Given the description of an element on the screen output the (x, y) to click on. 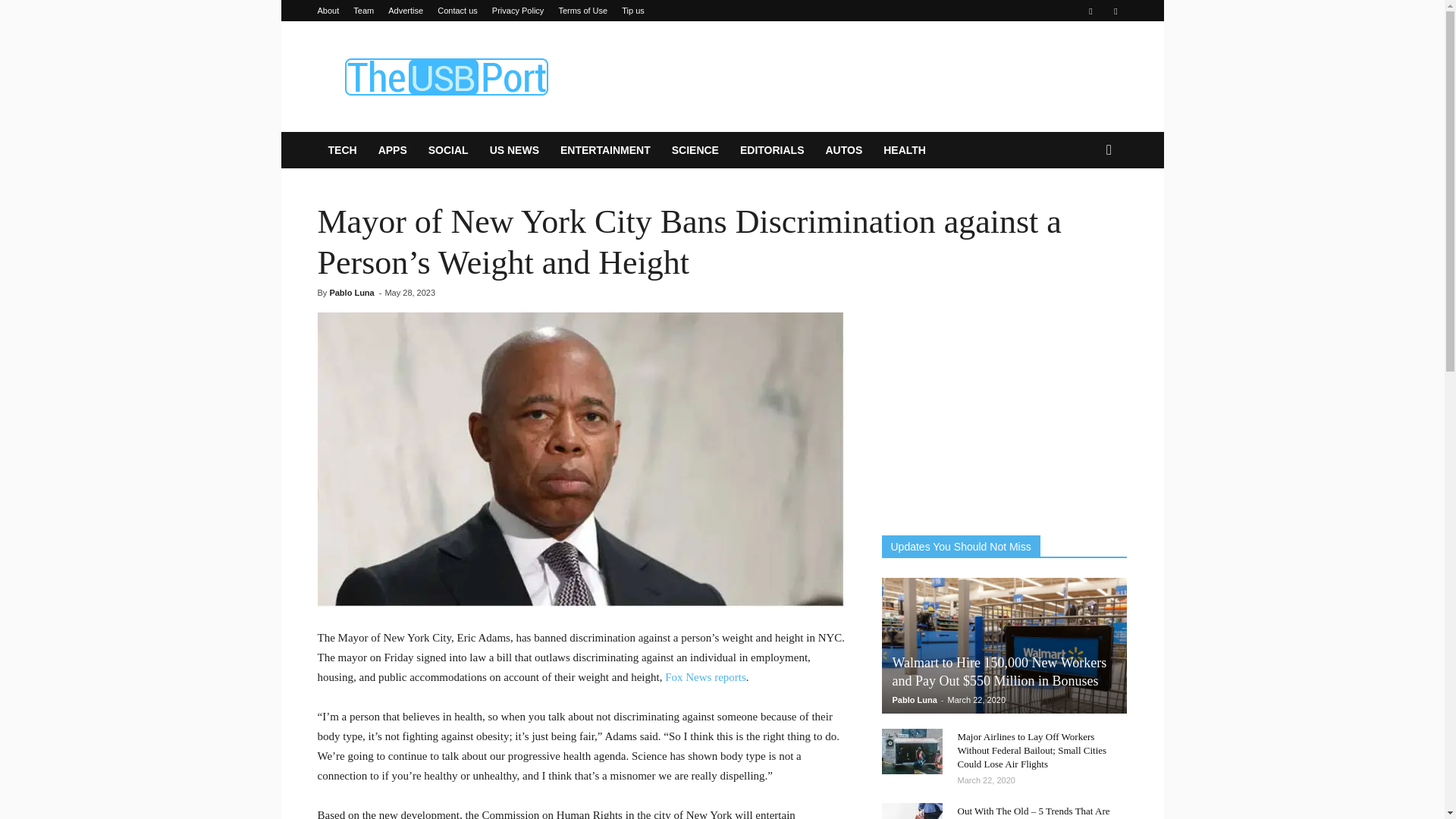
Twitter (1114, 10)
ENTERTAINMENT (605, 149)
Advertisement (850, 76)
SCIENCE (695, 149)
TECH (341, 149)
Advertise (405, 10)
Facebook (1090, 10)
SOCIAL (448, 149)
Privacy Policy (517, 10)
Team (363, 10)
APPS (392, 149)
The USB Port (445, 76)
Contact us (457, 10)
AUTOS (842, 149)
Pablo Luna (351, 292)
